Given the description of an element on the screen output the (x, y) to click on. 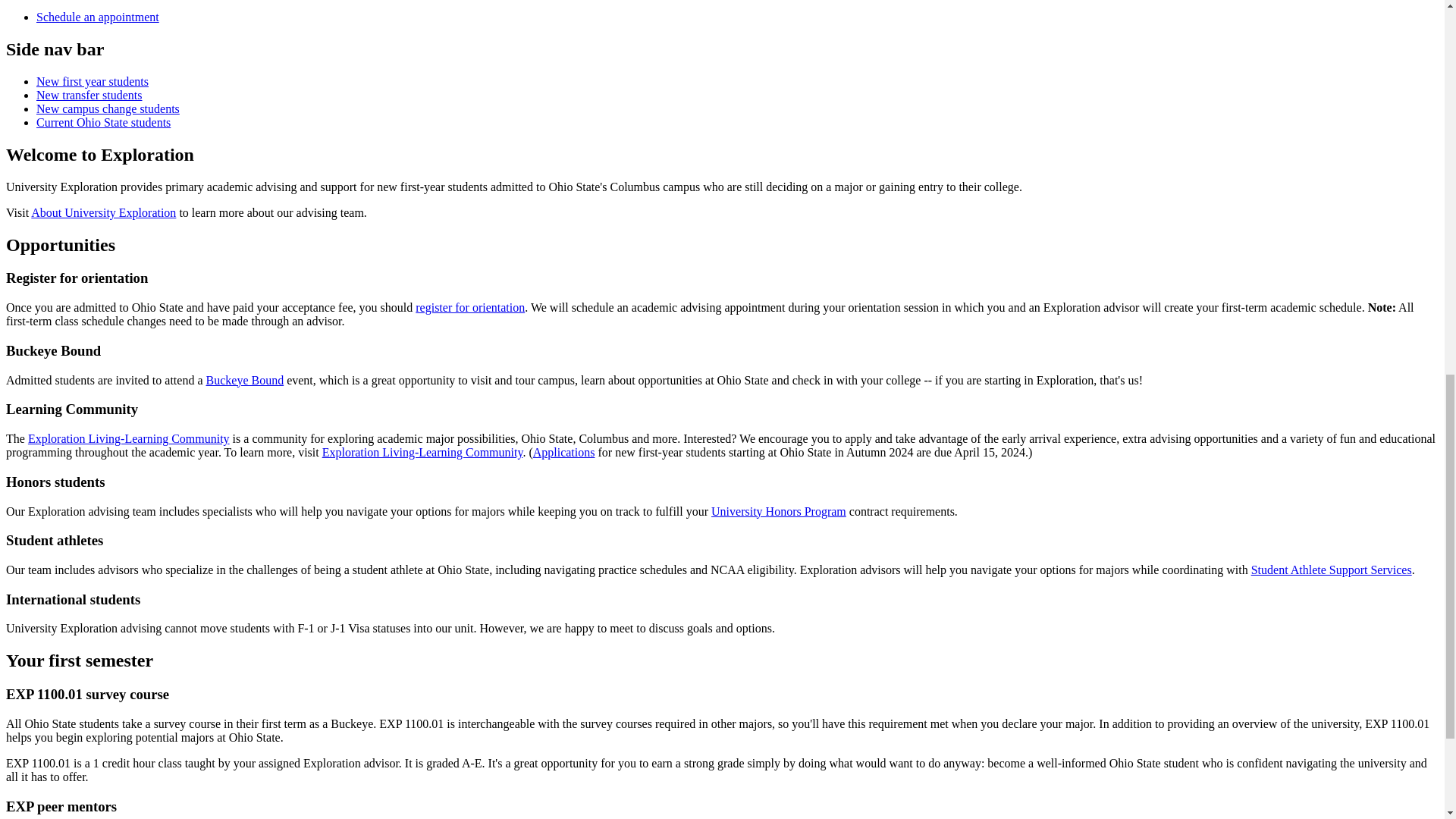
Opens new browser tab (469, 307)
Opens new browser tab (128, 438)
Opens new browser tab (1331, 569)
Opens new browser tab (244, 379)
Opens new browser tab (563, 451)
Opens new browser tab (778, 511)
Opens new browser tab (421, 451)
